Given the description of an element on the screen output the (x, y) to click on. 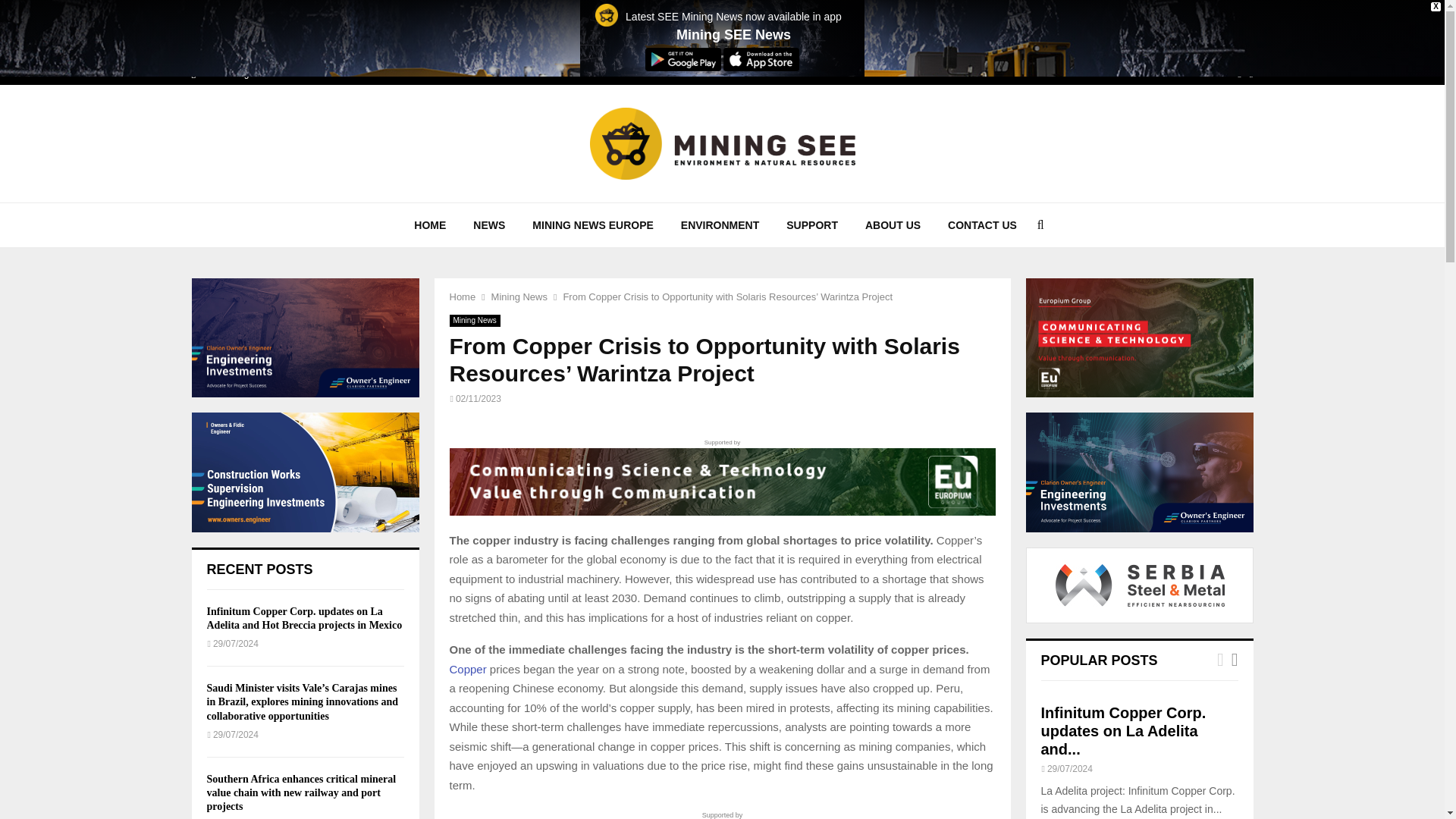
Home (462, 296)
ABOUT US (892, 225)
Mining News (519, 296)
CONTACT US (982, 225)
NEWS (489, 225)
Supported by (721, 476)
HOME (430, 225)
ENVIRONMENT (719, 225)
MINING NEWS EUROPE (592, 225)
Copper (467, 668)
SUPPORT (812, 225)
Mining News (473, 320)
